Given the description of an element on the screen output the (x, y) to click on. 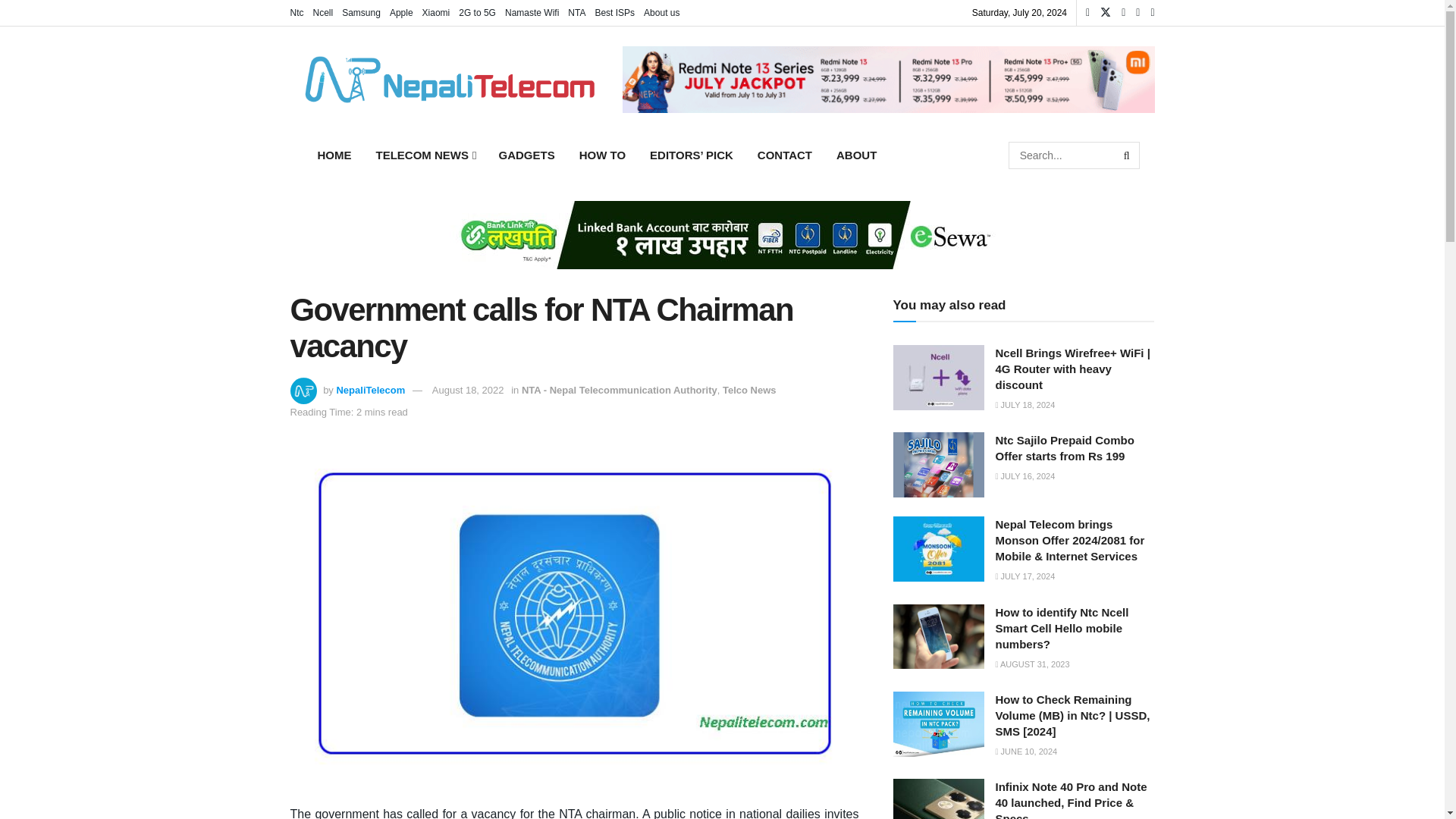
Xiaomi (435, 12)
ABOUT (856, 155)
HOME (333, 155)
About us (661, 12)
CONTACT (784, 155)
Namaste Wifi (532, 12)
HOW TO (602, 155)
Apple (401, 12)
TELECOM NEWS (425, 155)
Best ISPs (614, 12)
2G to 5G (477, 12)
GADGETS (526, 155)
Samsung (361, 12)
